Given the description of an element on the screen output the (x, y) to click on. 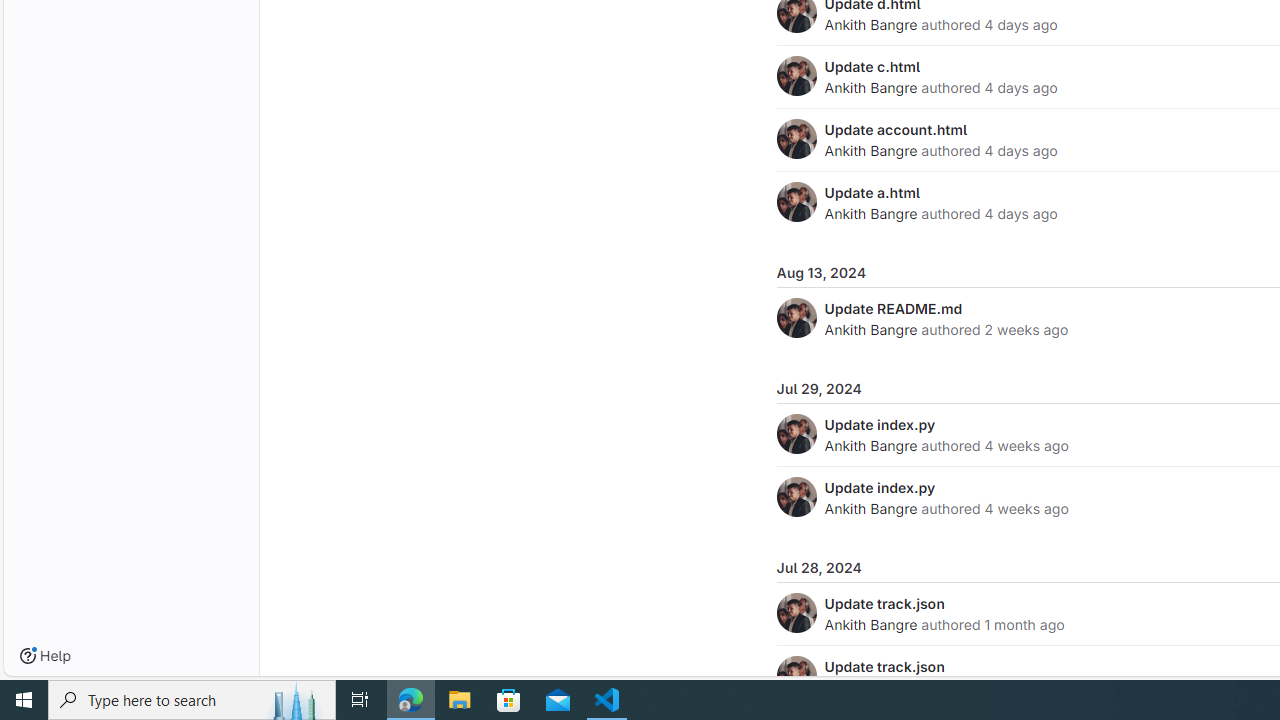
Update a.html (872, 192)
Ankith Bangre's avatar (795, 675)
Ankith Bangre (870, 624)
Update c.html (872, 66)
Update index.py (879, 487)
Ankith Bangre's avatar (795, 675)
Update account.html (895, 129)
Help (45, 655)
Update README.md (893, 308)
Update track.json (884, 666)
